Given the description of an element on the screen output the (x, y) to click on. 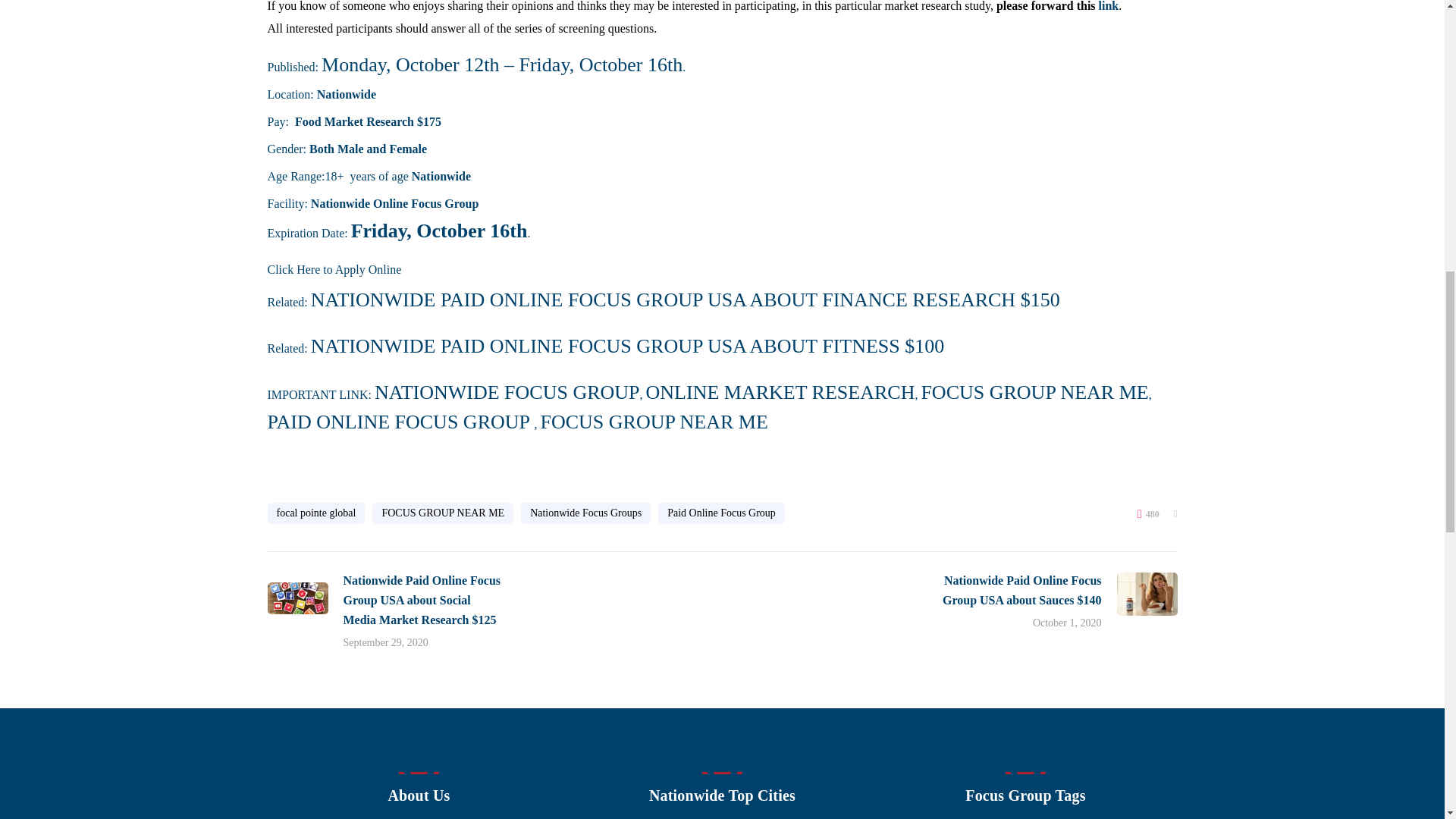
FOCUS GROUP NEAR ME (1034, 392)
Click Here to Apply Online (333, 269)
ONLINE MARKET RESEARCH (780, 392)
NATIONWIDE FOCUS GROUP (507, 392)
PAID ONLINE FOCUS GROUP  (400, 422)
link (1109, 6)
